Given the description of an element on the screen output the (x, y) to click on. 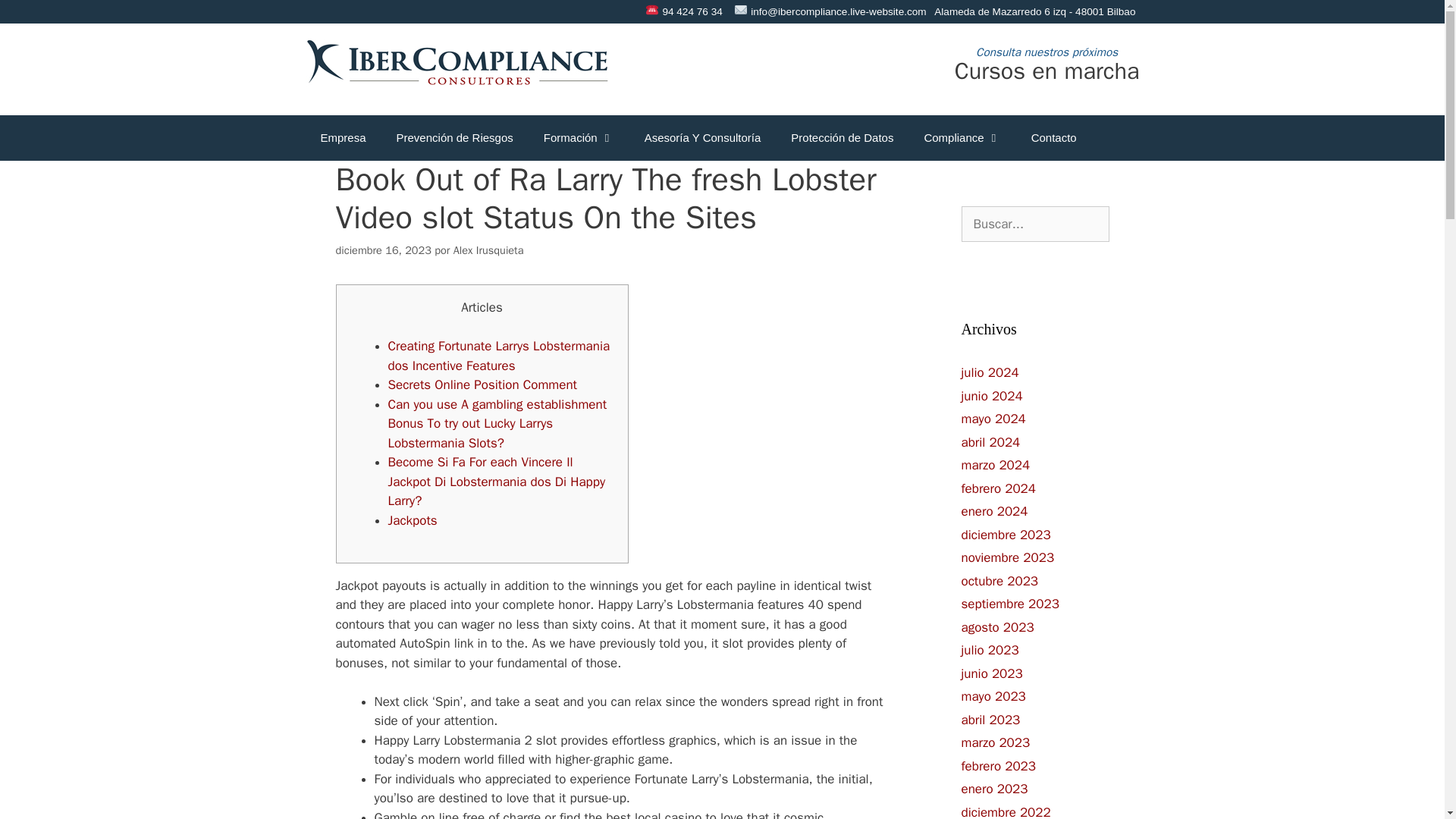
octubre 2023 (999, 580)
Alex Irusquieta (488, 250)
septiembre 2023 (1009, 603)
agosto 2023 (996, 627)
marzo 2024 (995, 465)
Cursos en marcha (1047, 70)
diciembre 2023 (1005, 534)
junio 2024 (991, 396)
mayo 2024 (993, 418)
Secrets Online Position Comment (483, 384)
Contacto (1054, 137)
Buscar: (1034, 224)
julio 2024 (989, 372)
